Given the description of an element on the screen output the (x, y) to click on. 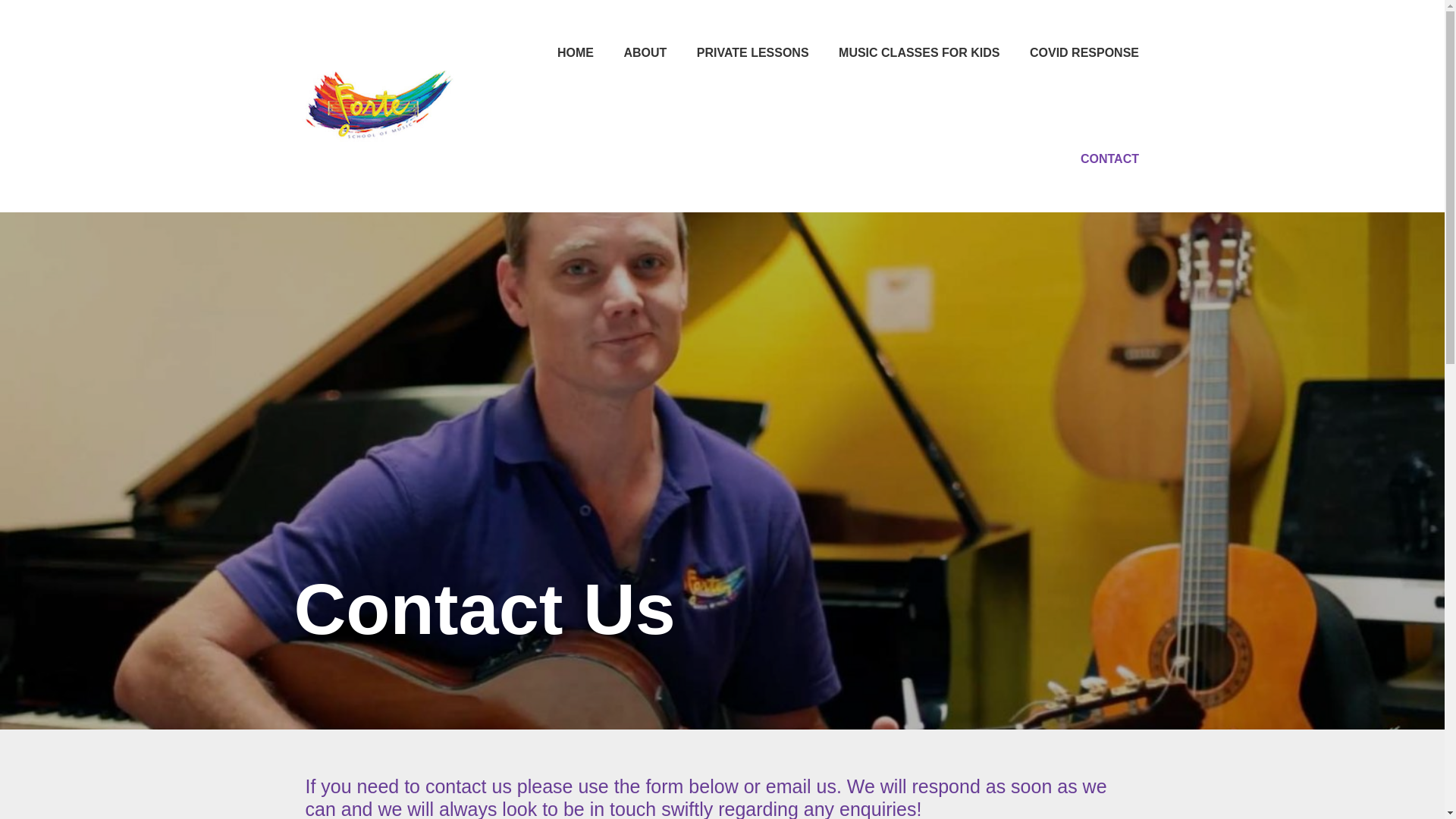
COVID RESPONSE Element type: text (1083, 53)
ABOUT Element type: text (644, 53)
MUSIC CLASSES FOR KIDS Element type: text (919, 53)
HOME Element type: text (575, 53)
PRIVATE LESSONS Element type: text (752, 53)
CONTACT Element type: text (1109, 159)
